Given the description of an element on the screen output the (x, y) to click on. 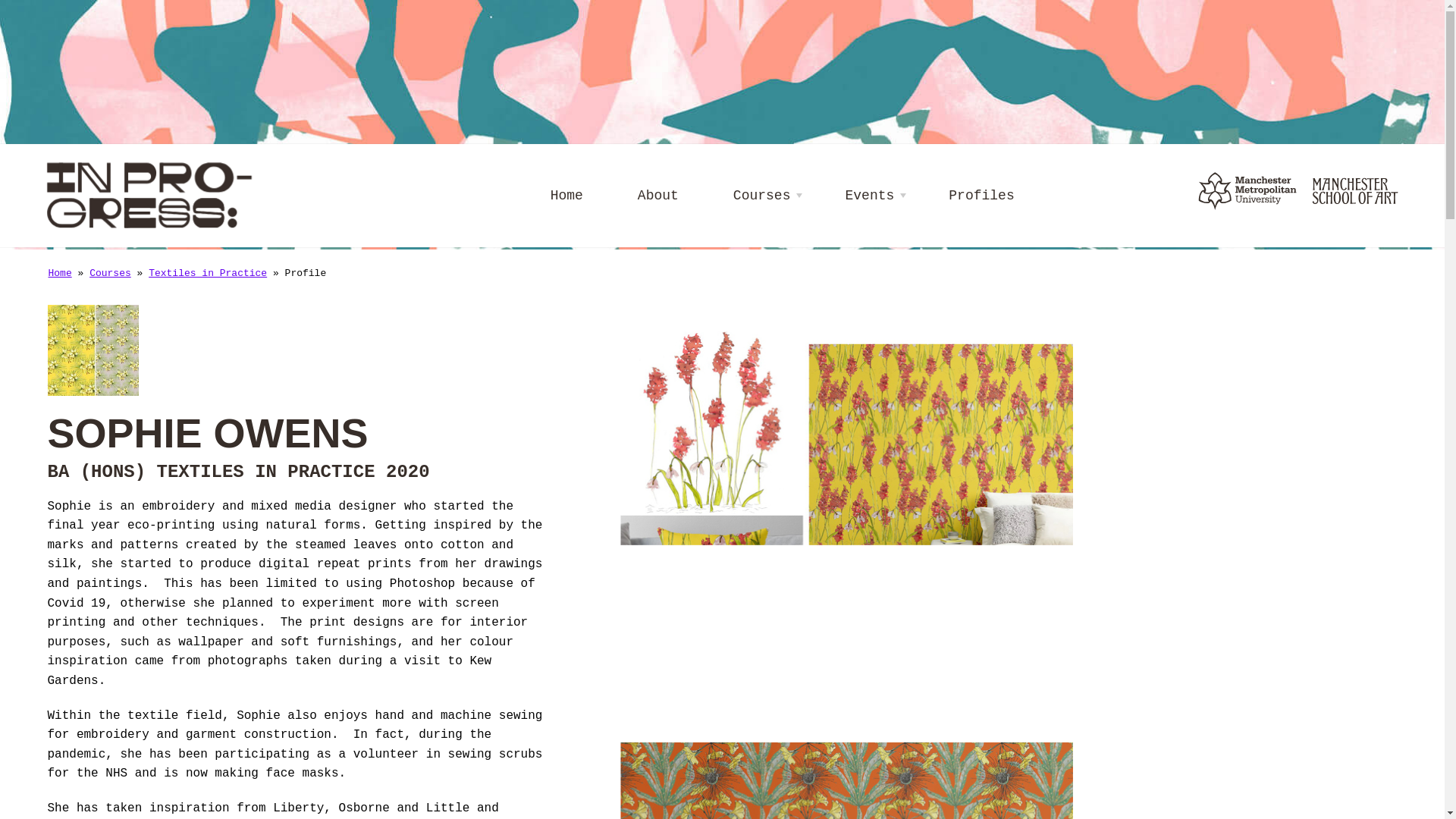
Home (59, 273)
Profiles (981, 195)
Textiles in Practice (207, 273)
Events (868, 195)
Home (566, 195)
Courses (762, 195)
About (658, 195)
Courses (109, 273)
Skip to content (19, 9)
